Given the description of an element on the screen output the (x, y) to click on. 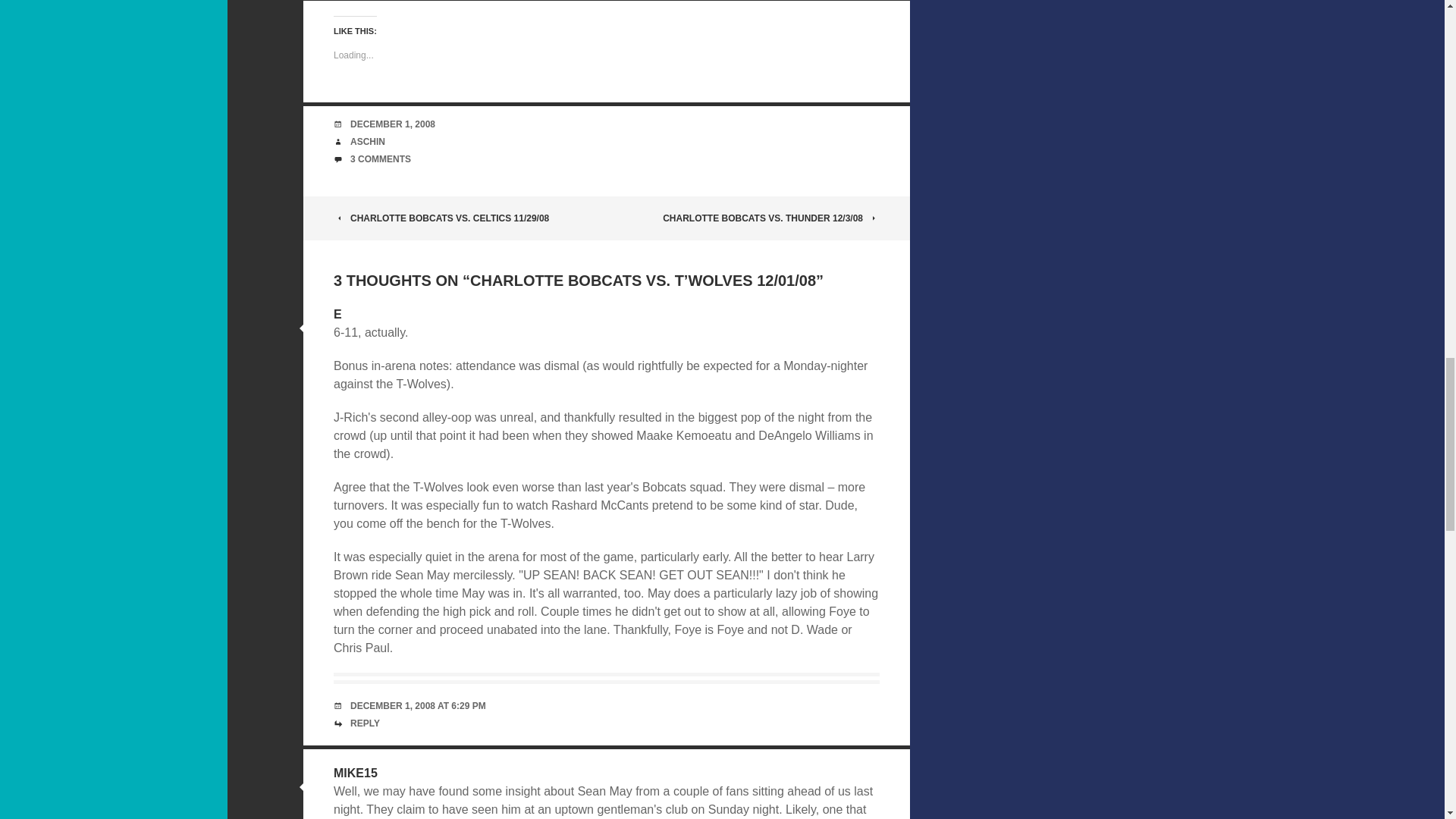
ASCHIN (367, 141)
REPLY (365, 723)
DECEMBER 1, 2008 (392, 123)
3 COMMENTS (380, 158)
DECEMBER 1, 2008 AT 6:29 PM (418, 706)
MIKE15 (355, 772)
